Given the description of an element on the screen output the (x, y) to click on. 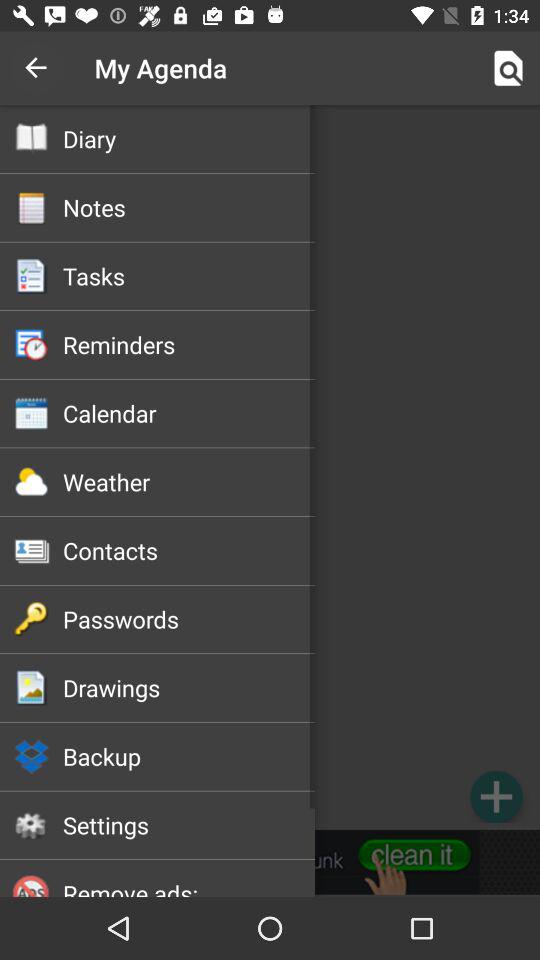
choose the icon to the right of the my agenda (508, 67)
